Given the description of an element on the screen output the (x, y) to click on. 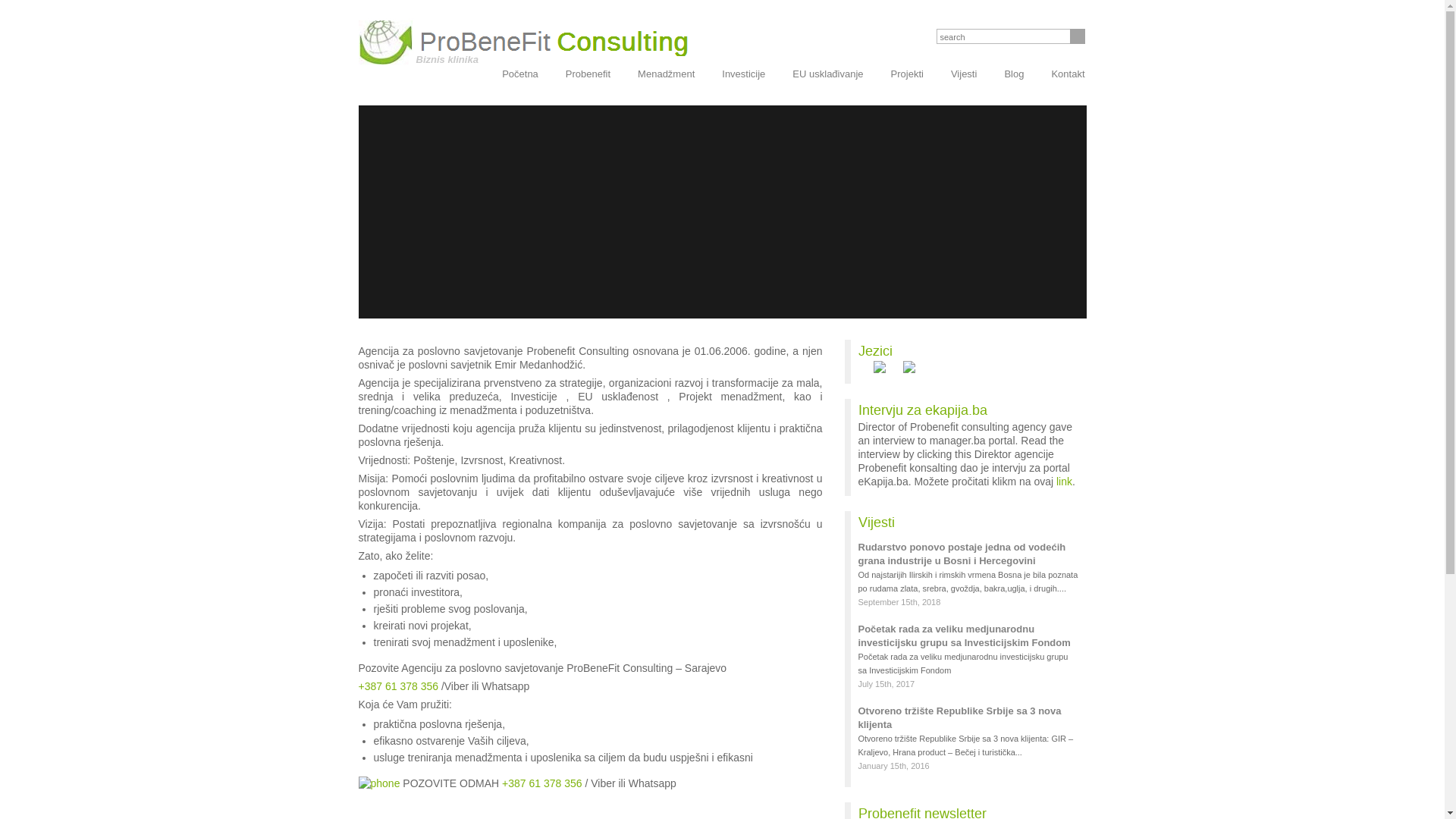
Vijesti Element type: text (963, 73)
Investicije Element type: text (743, 73)
+387 61 378 356 Element type: text (542, 783)
Projekti Element type: text (907, 73)
Blog Element type: text (1013, 73)
+387 61 378 356 Element type: text (397, 686)
link Element type: text (1064, 481)
Probenefit Element type: text (588, 73)
Kontakt Element type: text (1067, 73)
